Given the description of an element on the screen output the (x, y) to click on. 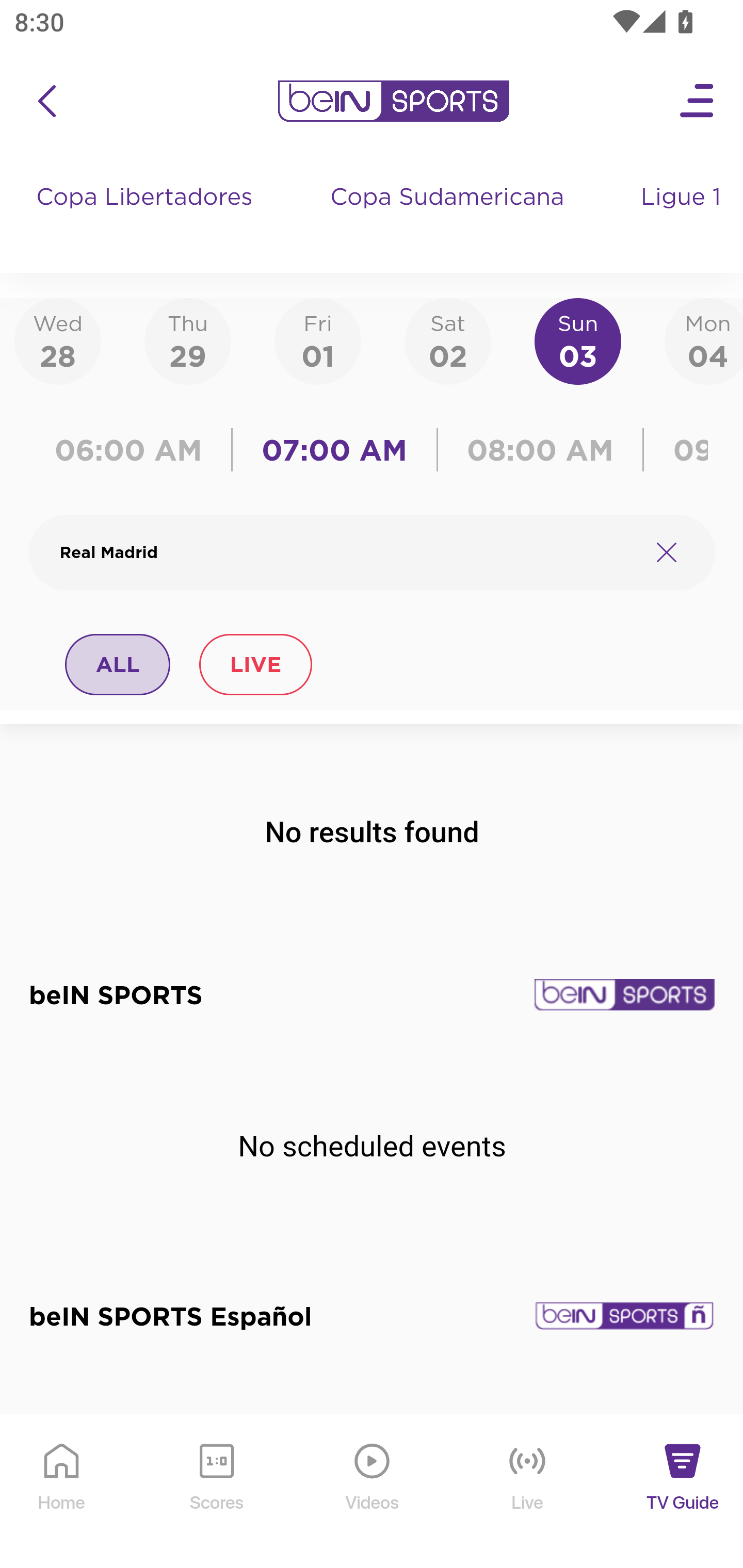
en-us?platform=mobile_android bein logo (392, 101)
icon back (46, 101)
Open Menu Icon (697, 101)
Copa Libertadores (146, 216)
Copa Sudamericana (448, 216)
Ligue 1 (682, 216)
Wed28 (58, 340)
Thu29 (187, 340)
Fri01 (318, 340)
Sat02 (447, 340)
Sun03 (578, 340)
Mon04 (703, 340)
06:00 AM (135, 449)
07:00 AM (334, 449)
08:00 AM (540, 449)
Real Madrid (346, 552)
ALL (118, 663)
LIVE (255, 663)
Home Home Icon Home (61, 1491)
Scores Scores Icon Scores (216, 1491)
Videos Videos Icon Videos (372, 1491)
TV Guide TV Guide Icon TV Guide (682, 1491)
